Given the description of an element on the screen output the (x, y) to click on. 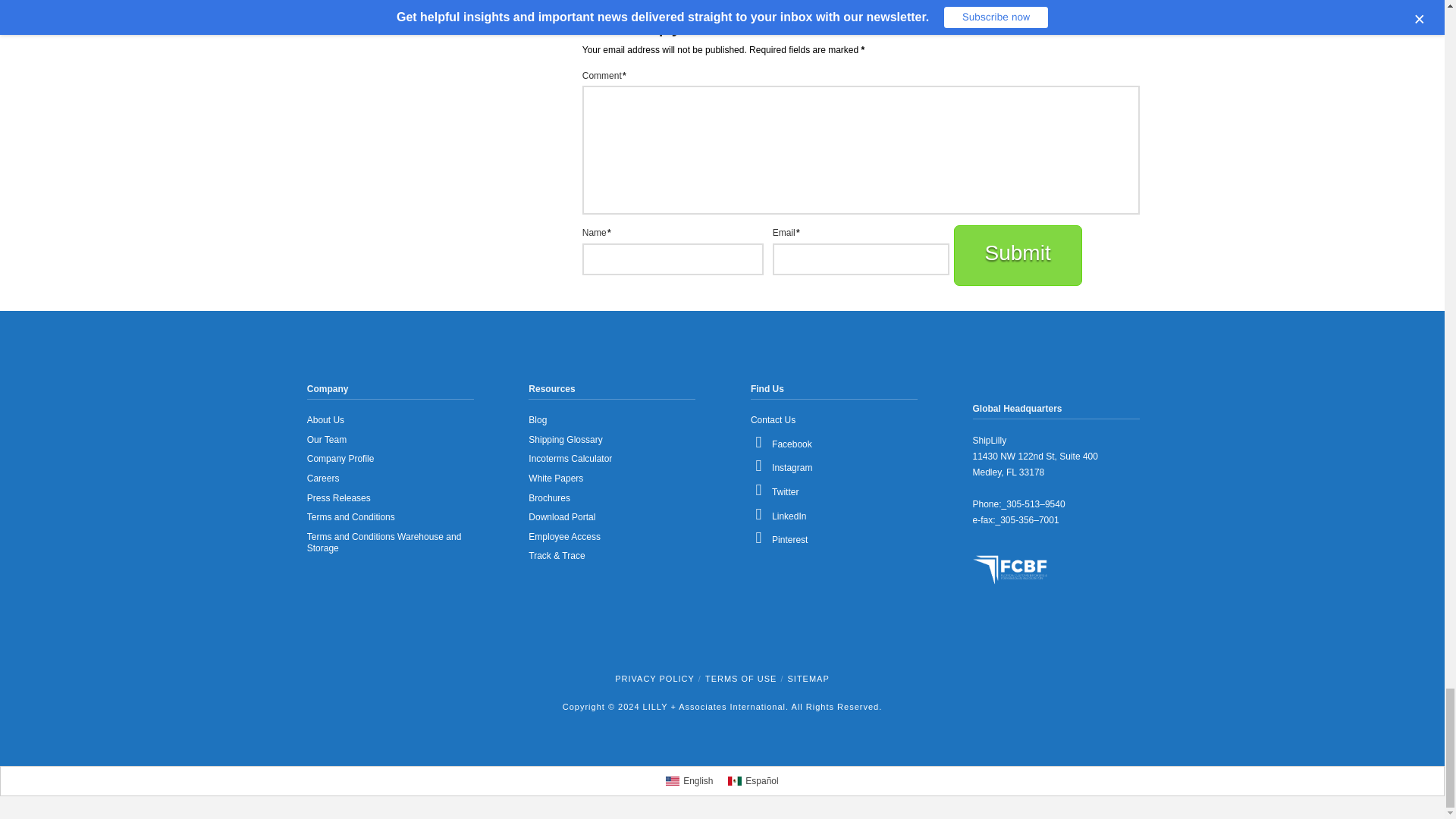
Submit (1017, 255)
